Given the description of an element on the screen output the (x, y) to click on. 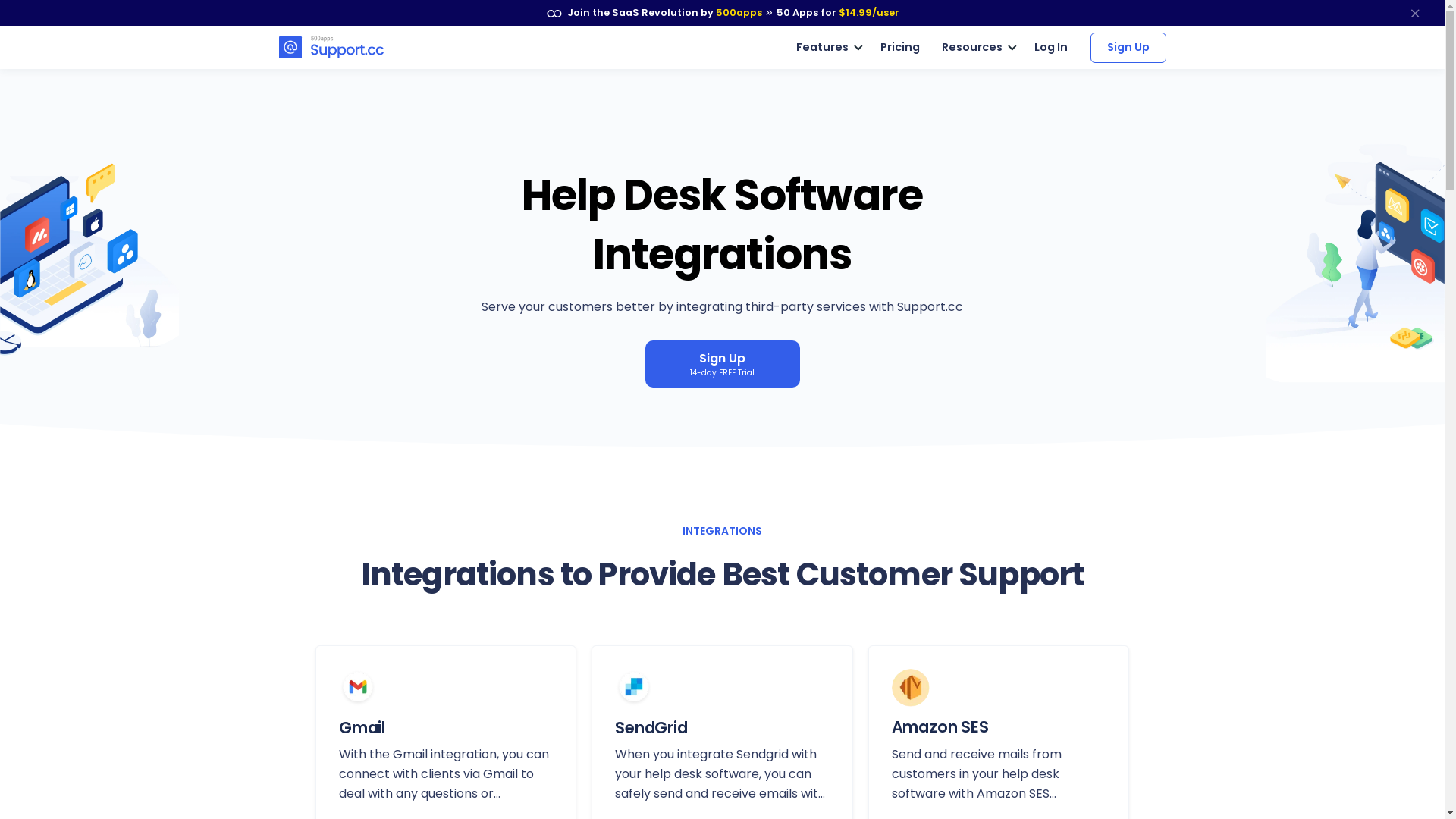
Join the SaaS Revolution by 500apps 50 Apps for $14.99/user Element type: text (722, 12)
Sign Up Element type: text (1128, 46)
Features Element type: text (827, 47)
Pricing Element type: text (899, 47)
Resources Element type: text (976, 47)
Help Desk Software Element type: hover (331, 47)
close Element type: hover (1414, 12)
Log In Element type: text (1050, 47)
Sign Up
14-day FREE Trial Element type: text (721, 363)
